Given the description of an element on the screen output the (x, y) to click on. 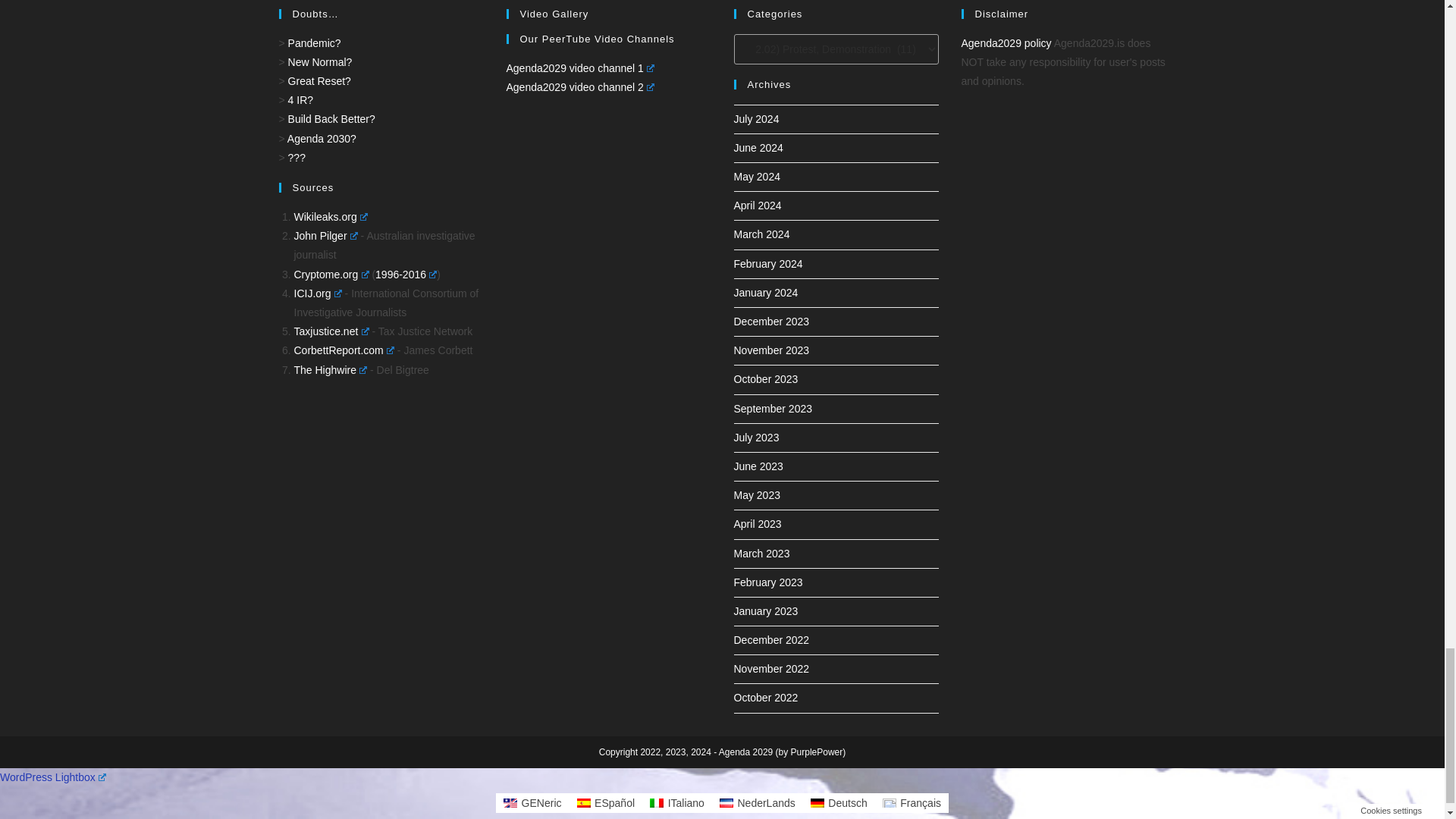
WordPress Lightbox (53, 776)
